Given the description of an element on the screen output the (x, y) to click on. 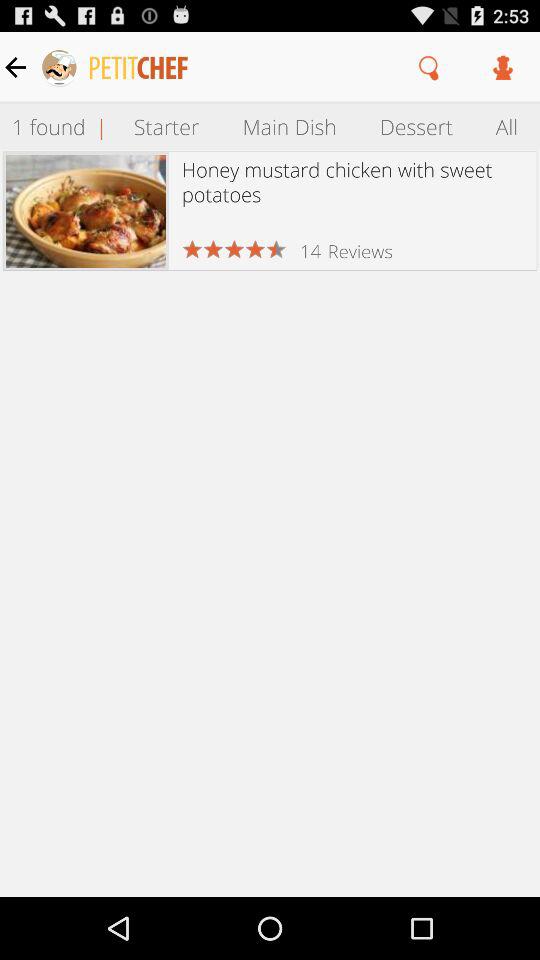
select icon next to the main dish icon (416, 126)
